Given the description of an element on the screen output the (x, y) to click on. 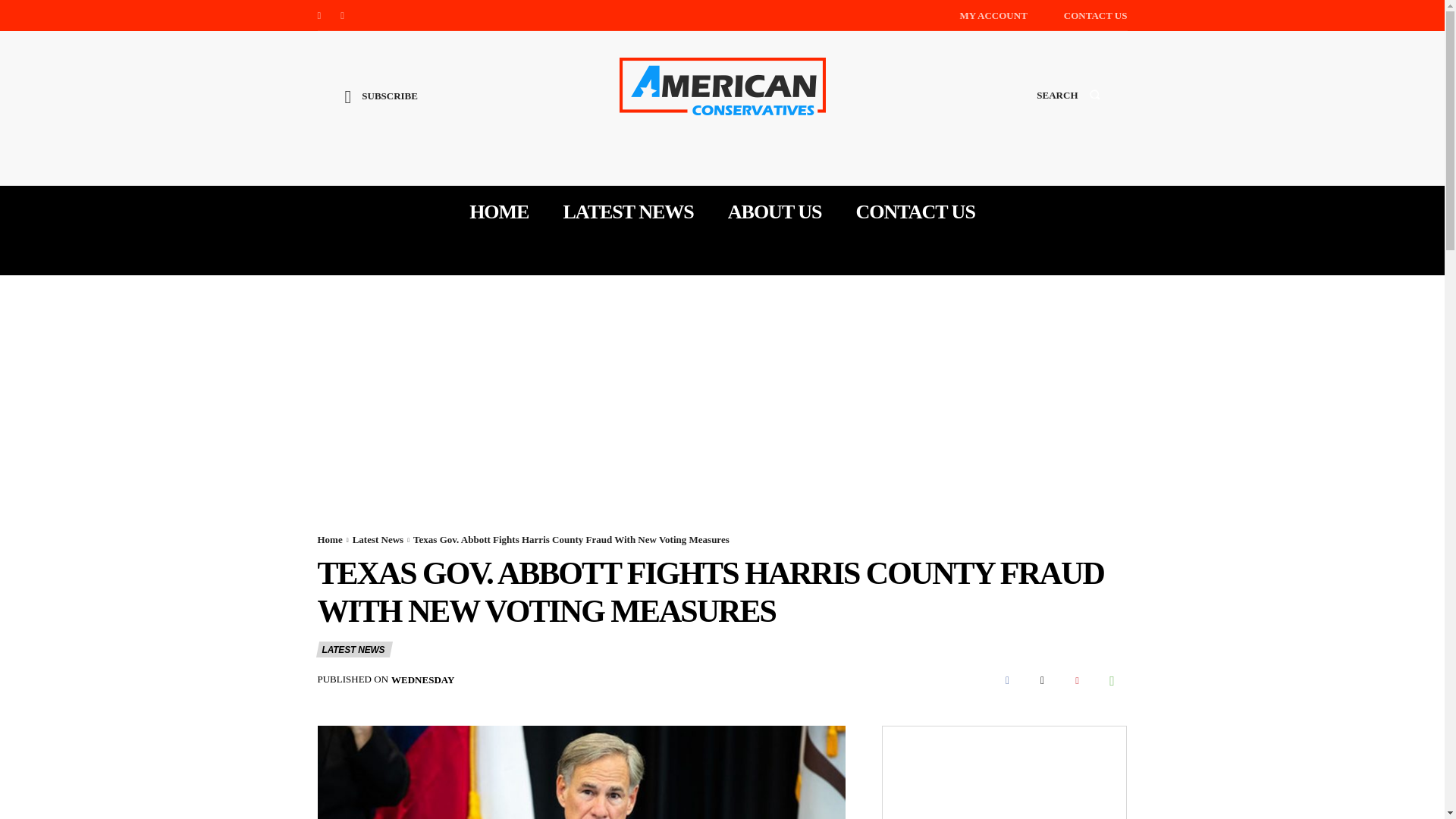
MY ACCOUNT (992, 15)
Subscribe (380, 107)
LATEST NEWS (627, 212)
LATEST NEWS (353, 649)
My Account (992, 15)
Contact Us (1095, 15)
Twitter (342, 15)
Home (329, 539)
ABOUT US (775, 212)
HOME (498, 212)
Latest News (378, 539)
SEARCH (1067, 109)
CONTACT US (915, 212)
SUBSCRIBE (380, 107)
